Given the description of an element on the screen output the (x, y) to click on. 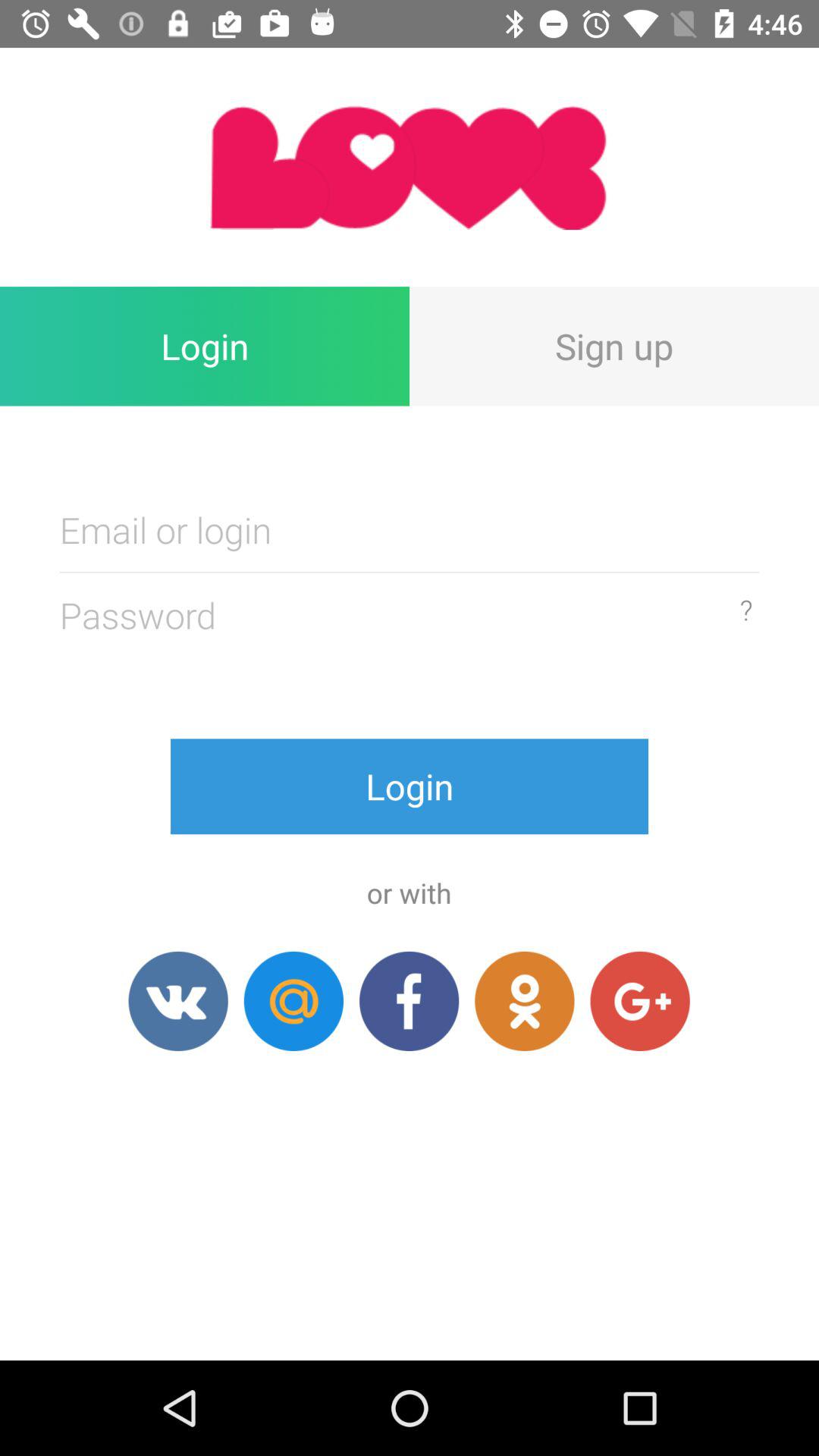
share (178, 1001)
